Given the description of an element on the screen output the (x, y) to click on. 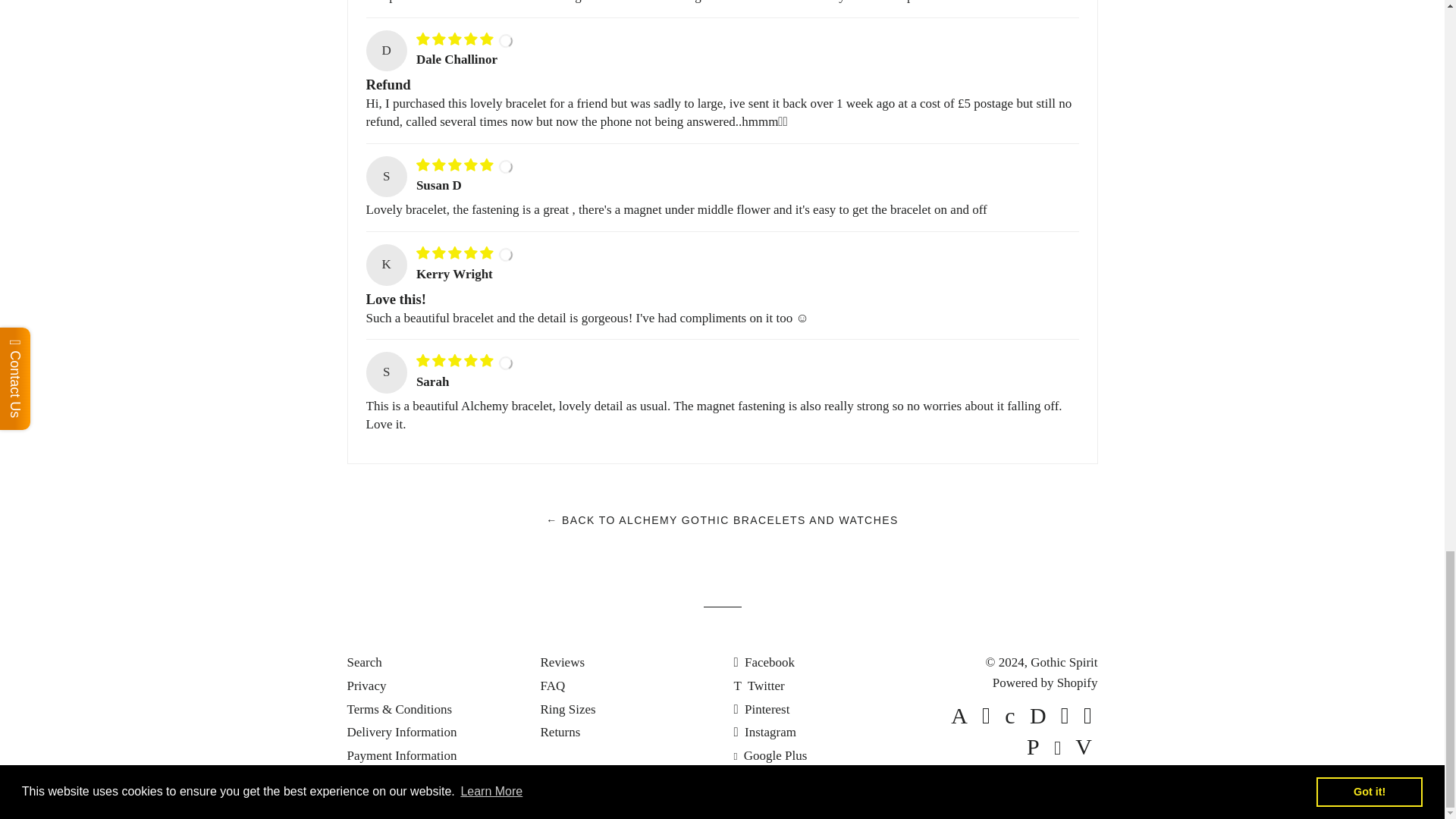
Gothic Spirit on Facebook (763, 662)
Gothic Spirit on Google Plus (770, 755)
Gothic Spirit on Twitter (758, 685)
Gothic Spirit on Pinterest (761, 708)
Gothic Spirit on Instagram (764, 731)
